Given the description of an element on the screen output the (x, y) to click on. 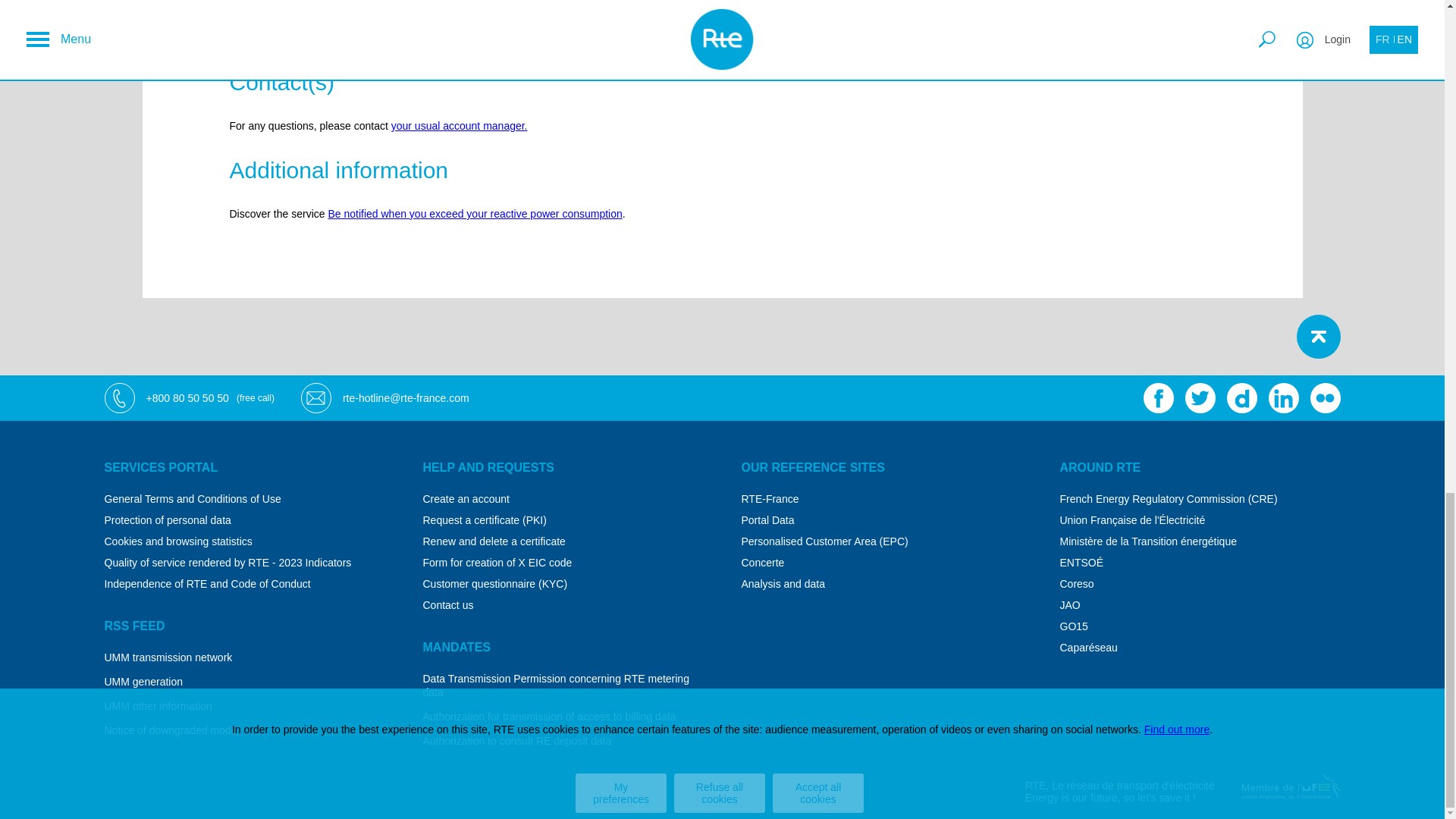
Reserved exclusively for non-holders of a PKI certificate (563, 520)
Permission-metering-data.docx (563, 685)
your usual account manager. (459, 125)
Be notified when you exceed your reactive power consumption (474, 214)
Authorization-billing-2021.docx (563, 716)
